Given the description of an element on the screen output the (x, y) to click on. 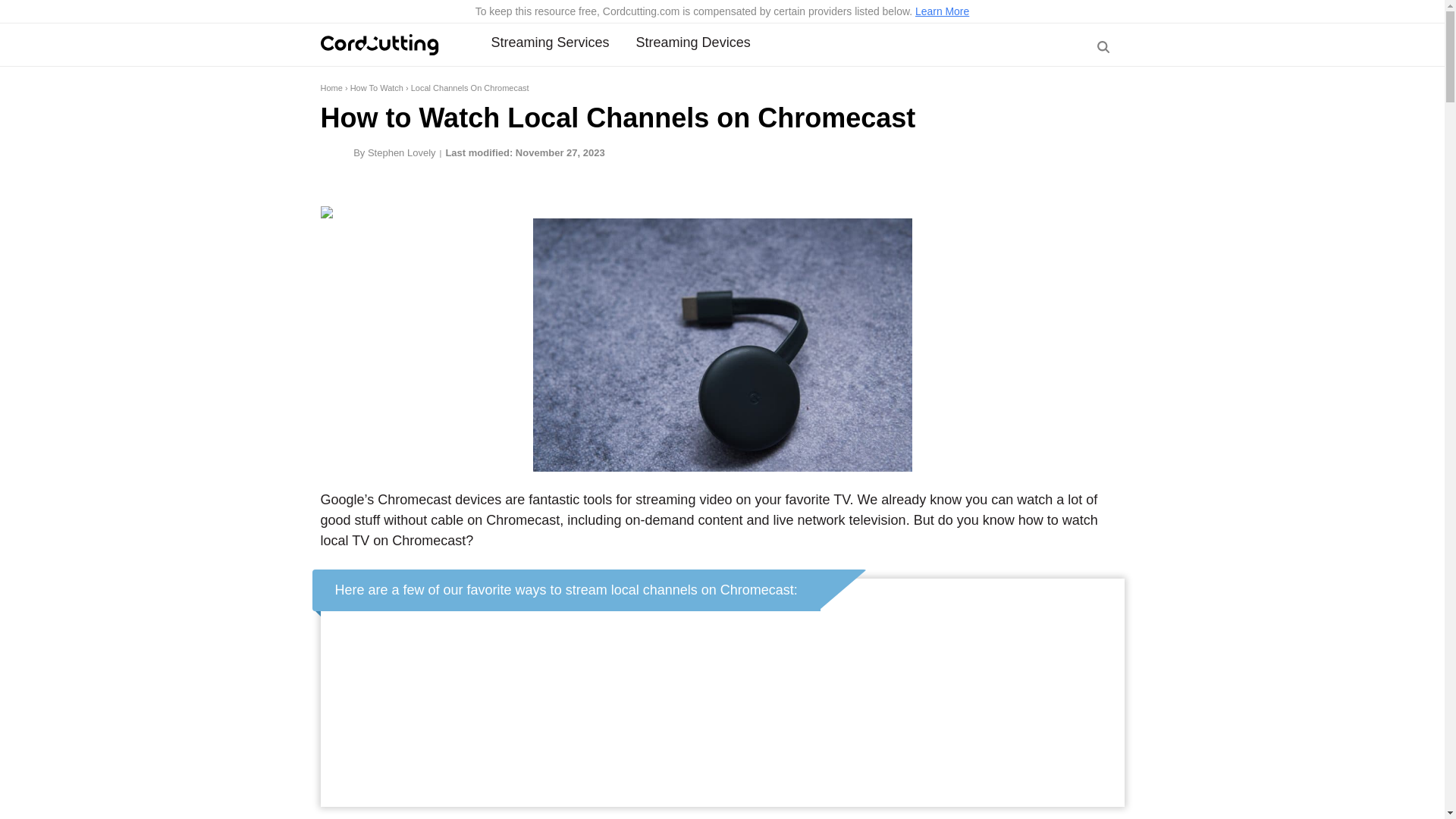
Streaming Devices (693, 42)
Streaming Services (551, 42)
Chromecast on a gray background (721, 344)
Search (1101, 85)
How To Watch (376, 87)
Learn More (942, 10)
Home (331, 87)
